Given the description of an element on the screen output the (x, y) to click on. 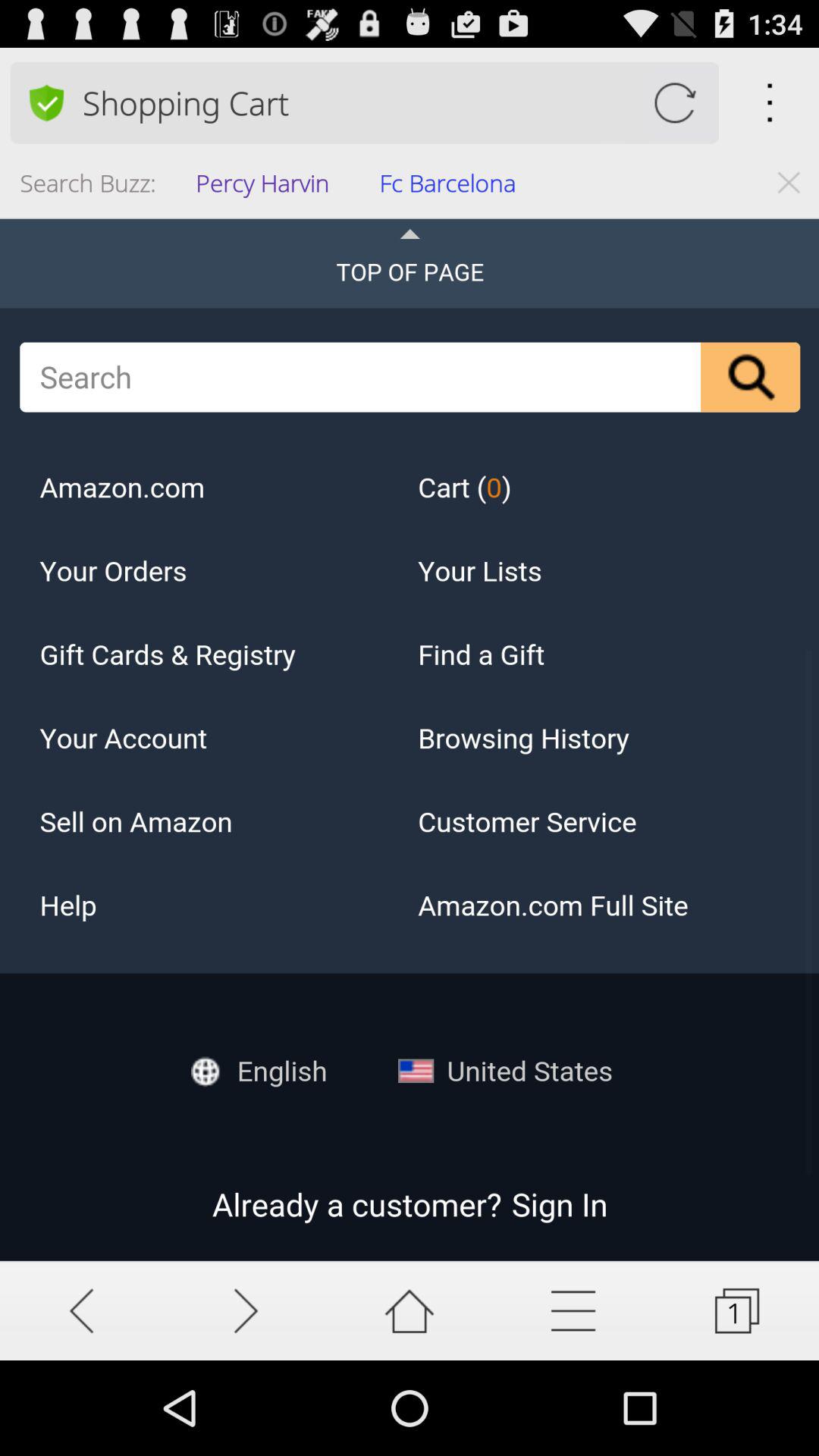
next page (245, 1310)
